Given the description of an element on the screen output the (x, y) to click on. 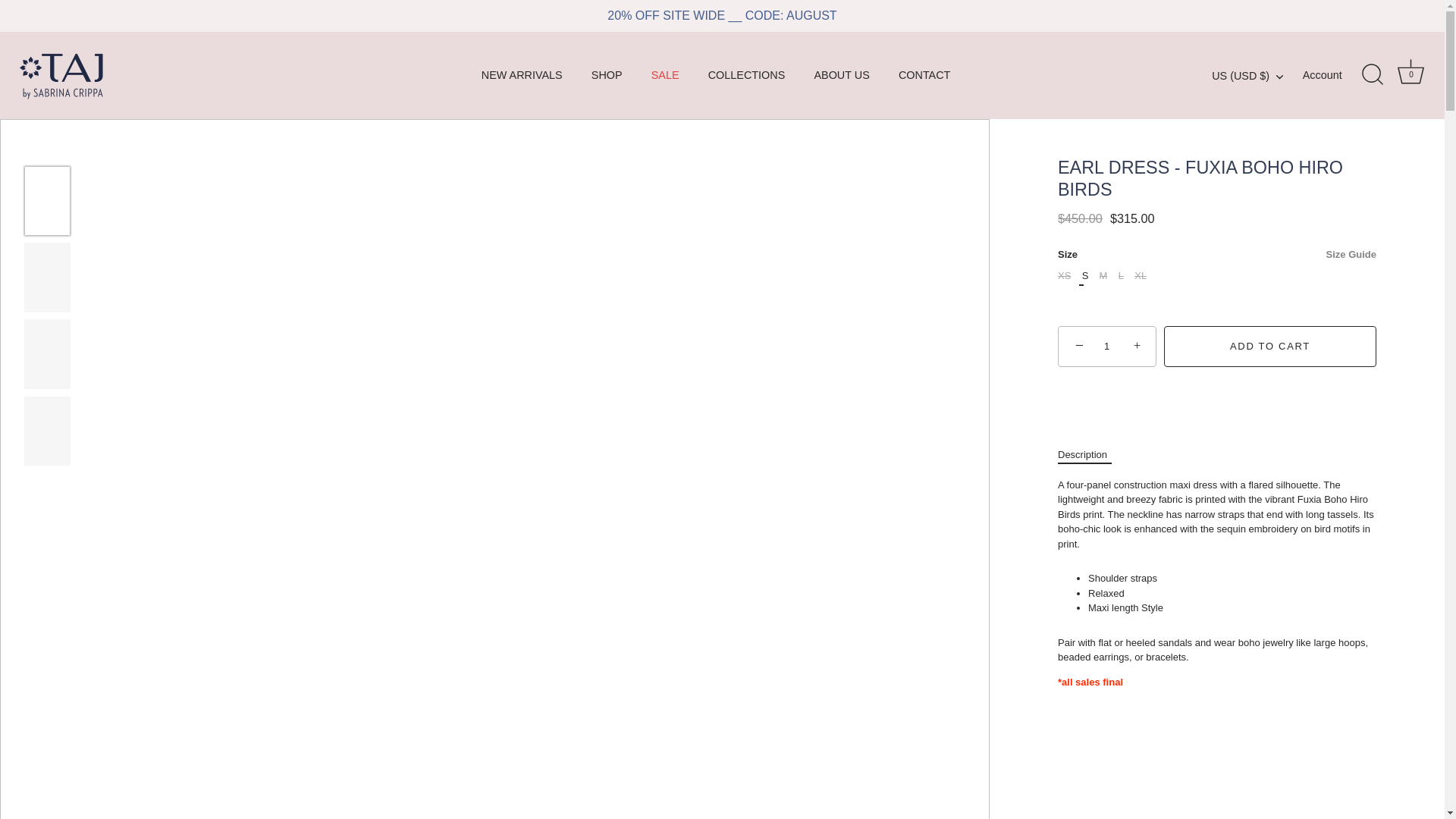
Cart (1410, 71)
CONTACT (924, 74)
NEW ARRIVALS (521, 74)
COLLECTIONS (745, 74)
ABOUT US (841, 74)
SALE (664, 74)
SHOP (606, 74)
